Given the description of an element on the screen output the (x, y) to click on. 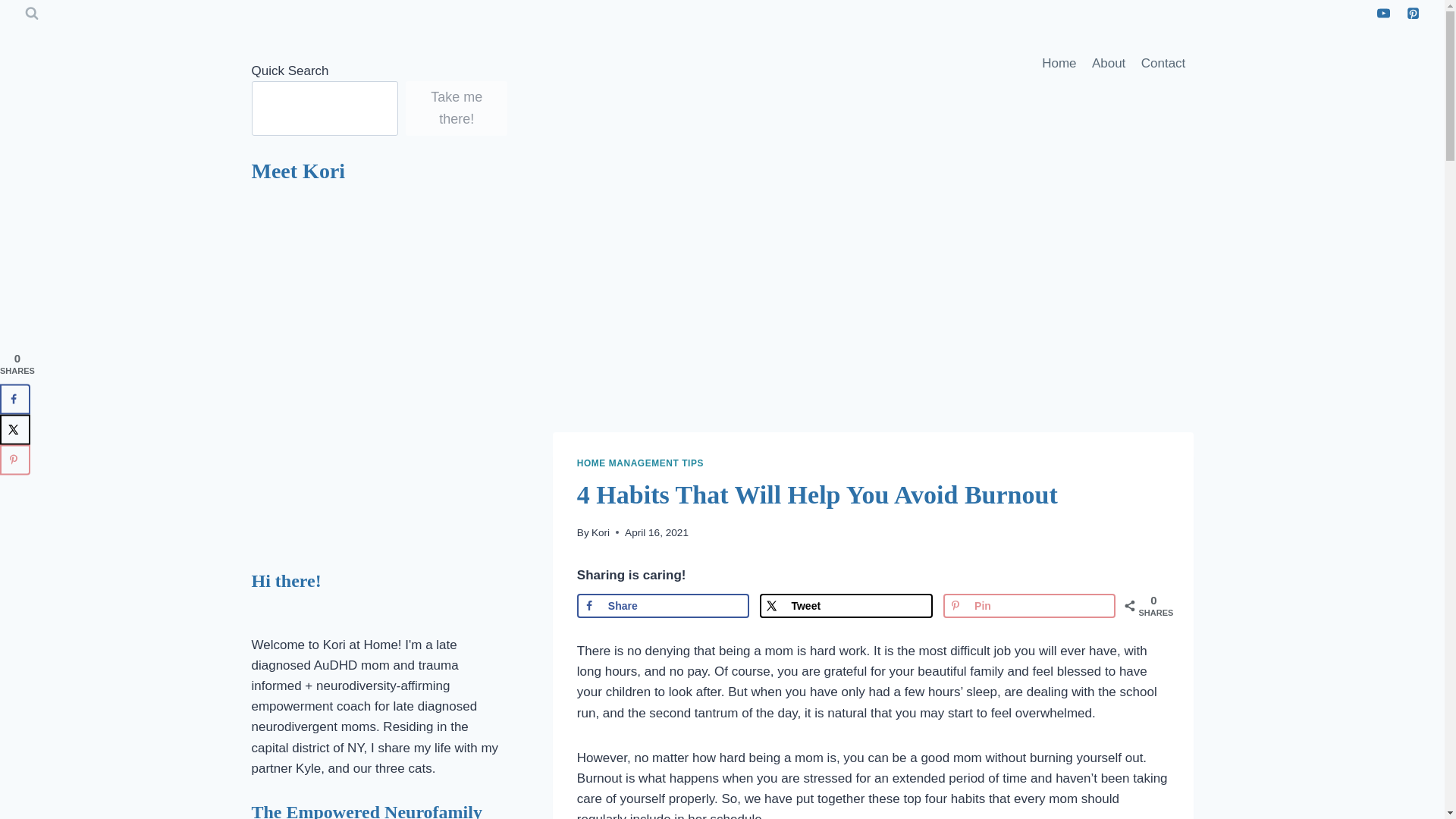
Kori (600, 532)
HOME MANAGEMENT TIPS (639, 462)
Tweet (845, 605)
Share on Facebook (662, 605)
Save to Pinterest (1029, 605)
Share (662, 605)
Pin (1029, 605)
About (1109, 63)
Contact (1163, 63)
Home (1058, 63)
